Given the description of an element on the screen output the (x, y) to click on. 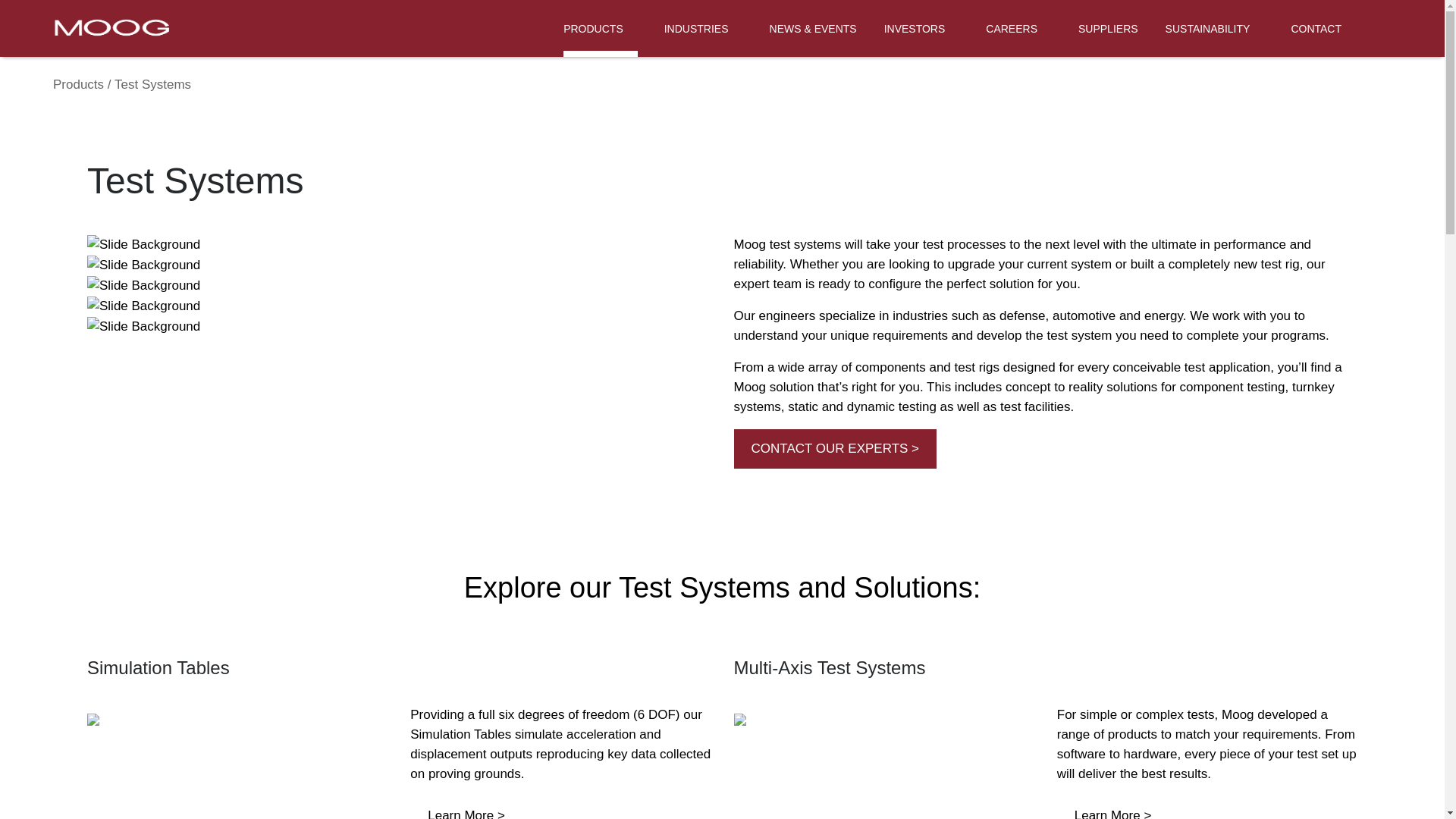
INVESTORS (921, 28)
PRODUCTS (600, 28)
INDUSTRIES (702, 28)
Moog Logo (109, 26)
